Given the description of an element on the screen output the (x, y) to click on. 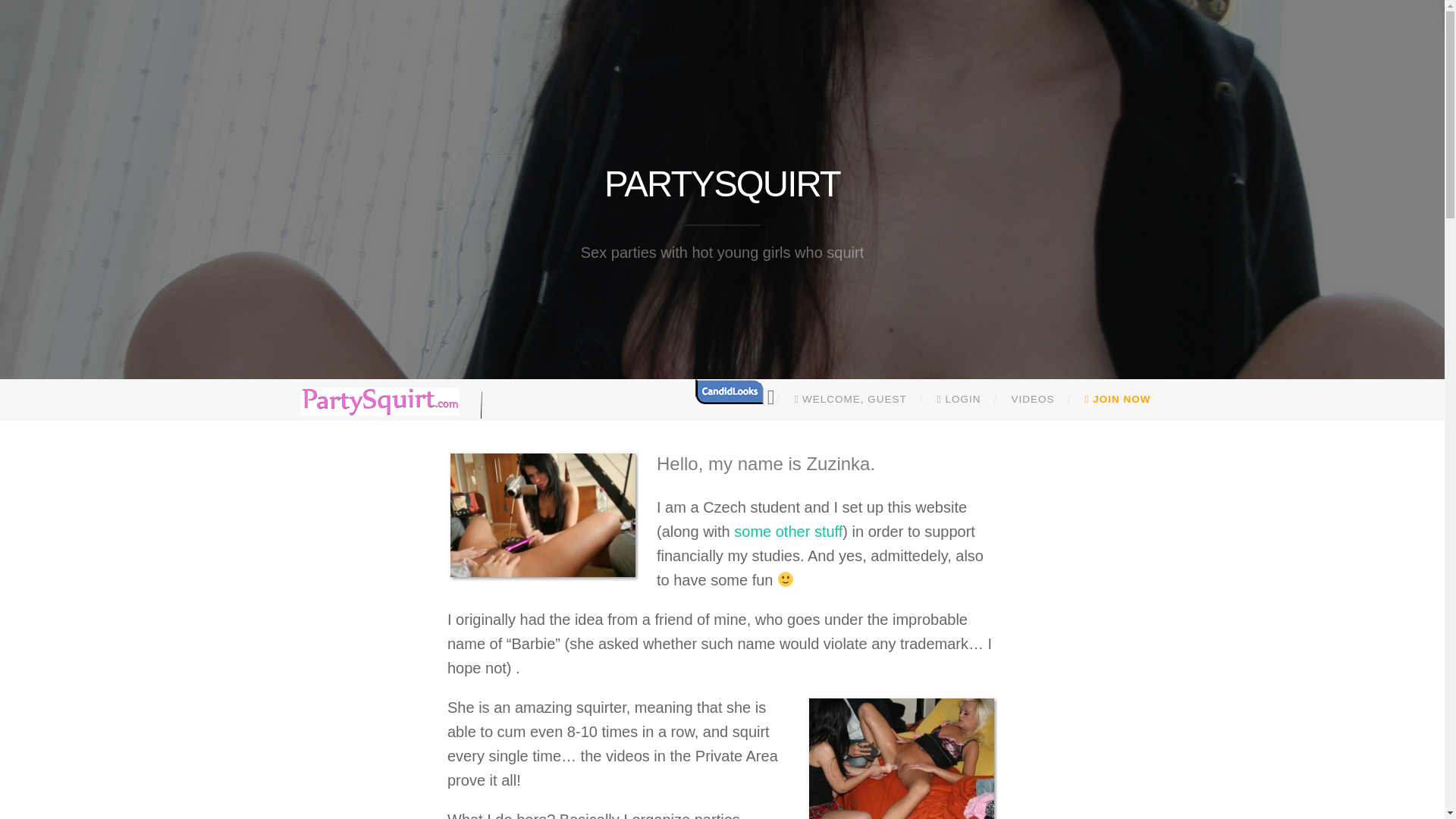
some other stuff (788, 531)
 LOGIN (958, 399)
 WELCOME, GUEST (849, 399)
PartySquirt (722, 183)
VIDEOS (1032, 399)
PARTYSQUIRT (722, 183)
Huge dildo in Barbie's pussy (901, 757)
 JOIN NOW (1118, 399)
